Given the description of an element on the screen output the (x, y) to click on. 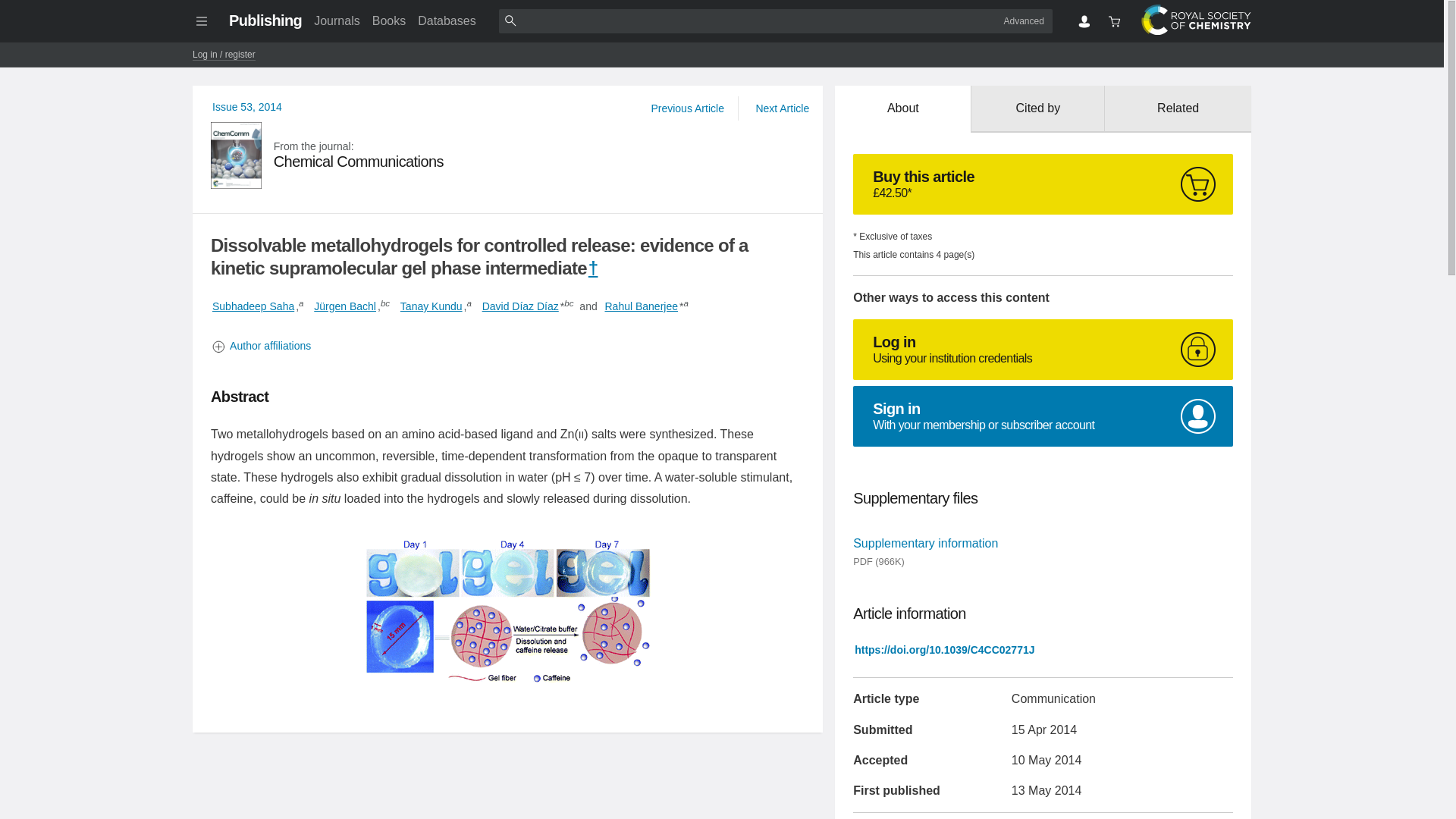
Issue 53, 2014 (247, 106)
Author affiliations (508, 345)
Issue 53, 2014 (247, 106)
Journals (336, 20)
Books (508, 155)
Advanced (389, 20)
Publishing (1023, 20)
Tanay Kundu (264, 20)
Link to landing page via DOI (431, 305)
About (944, 649)
Subhadeep Saha (902, 108)
Cited by (253, 305)
Rahul Banerjee (1037, 108)
Related (640, 305)
